Given the description of an element on the screen output the (x, y) to click on. 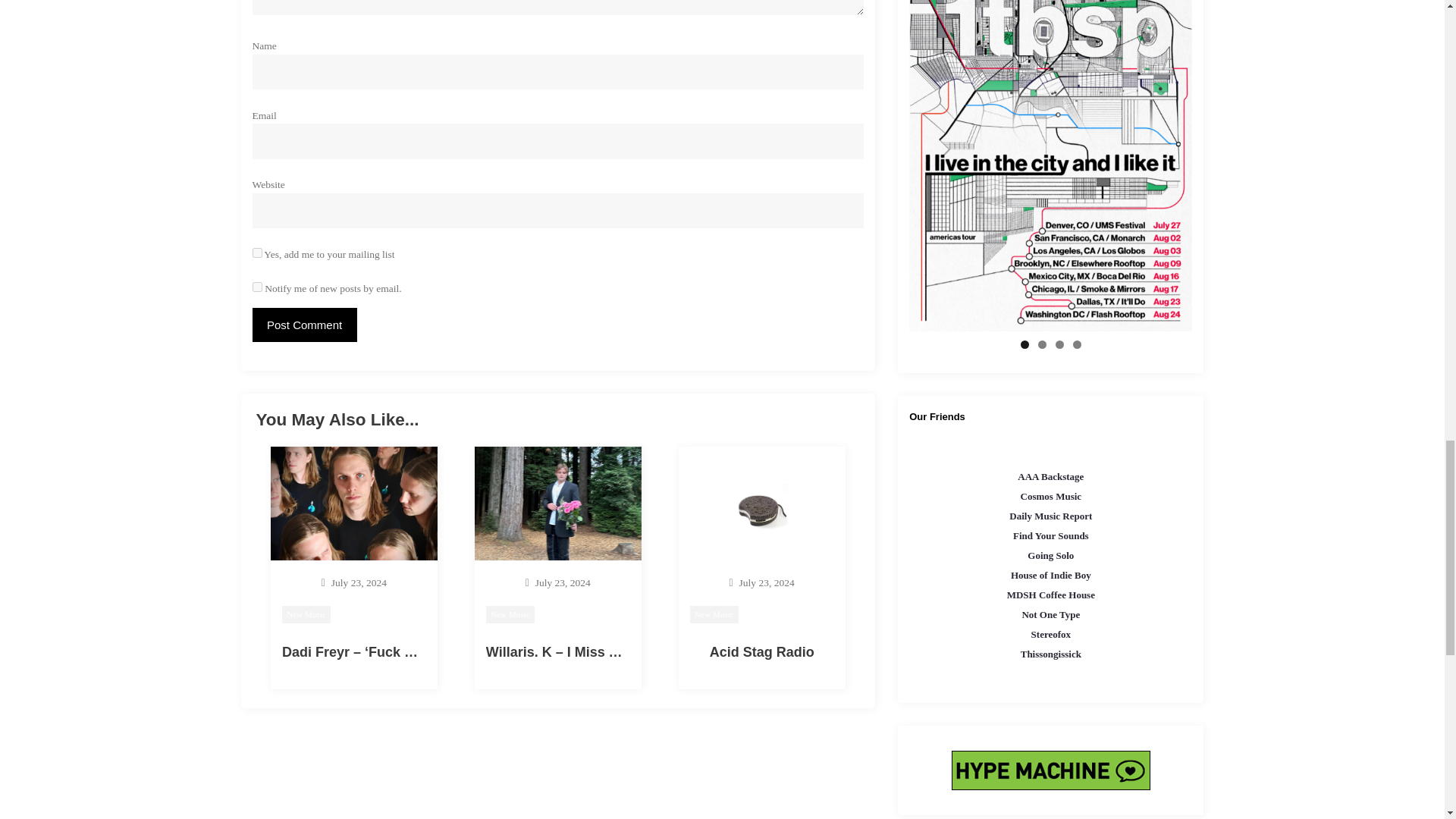
Post Comment (303, 324)
1 (256, 252)
New Music (714, 614)
subscribe (256, 286)
New Music (510, 614)
New Music (306, 614)
Acid Stag Radio (761, 652)
Post Comment (303, 324)
